Given the description of an element on the screen output the (x, y) to click on. 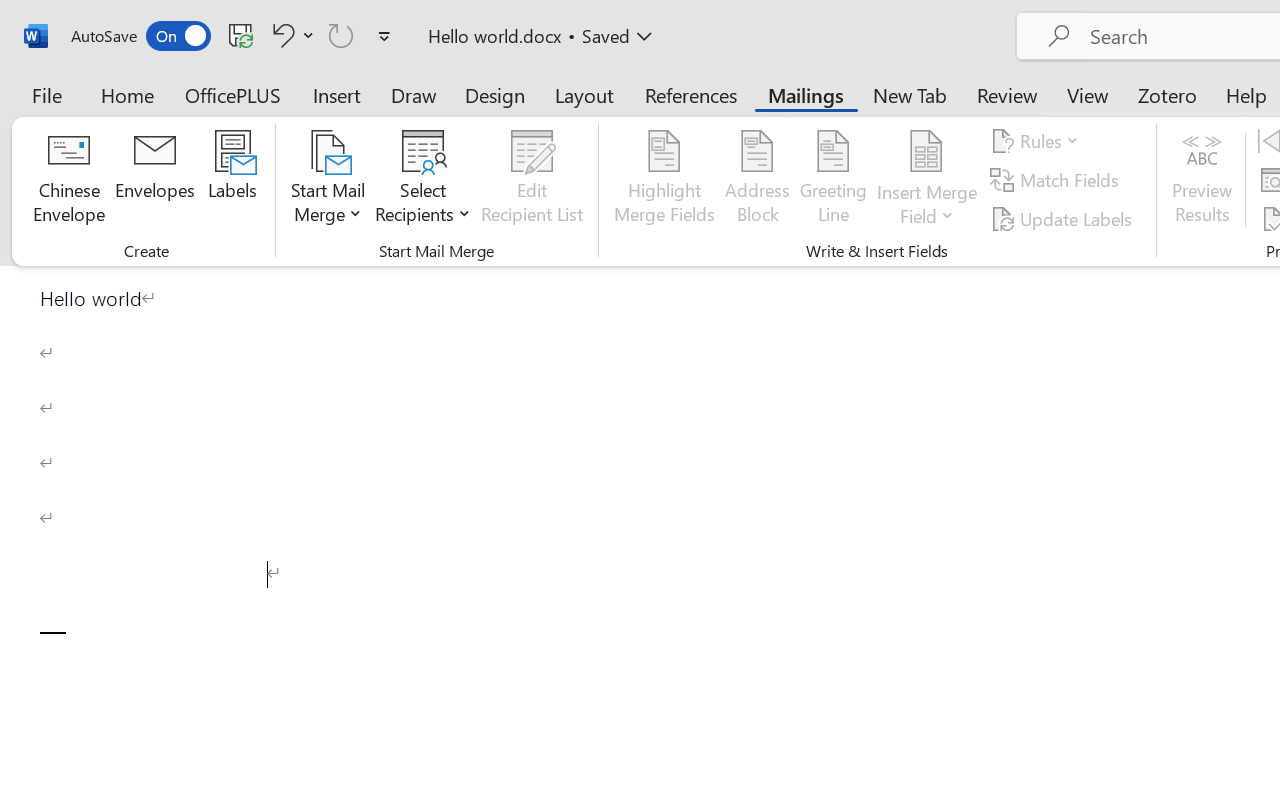
Undo Paragraph Formatting (280, 35)
Update Labels (1064, 218)
Start Mail Merge (328, 179)
Rules (1037, 141)
Match Fields... (1057, 179)
Address Block... (757, 179)
References (690, 94)
Customize Quick Access Toolbar (384, 35)
